Given the description of an element on the screen output the (x, y) to click on. 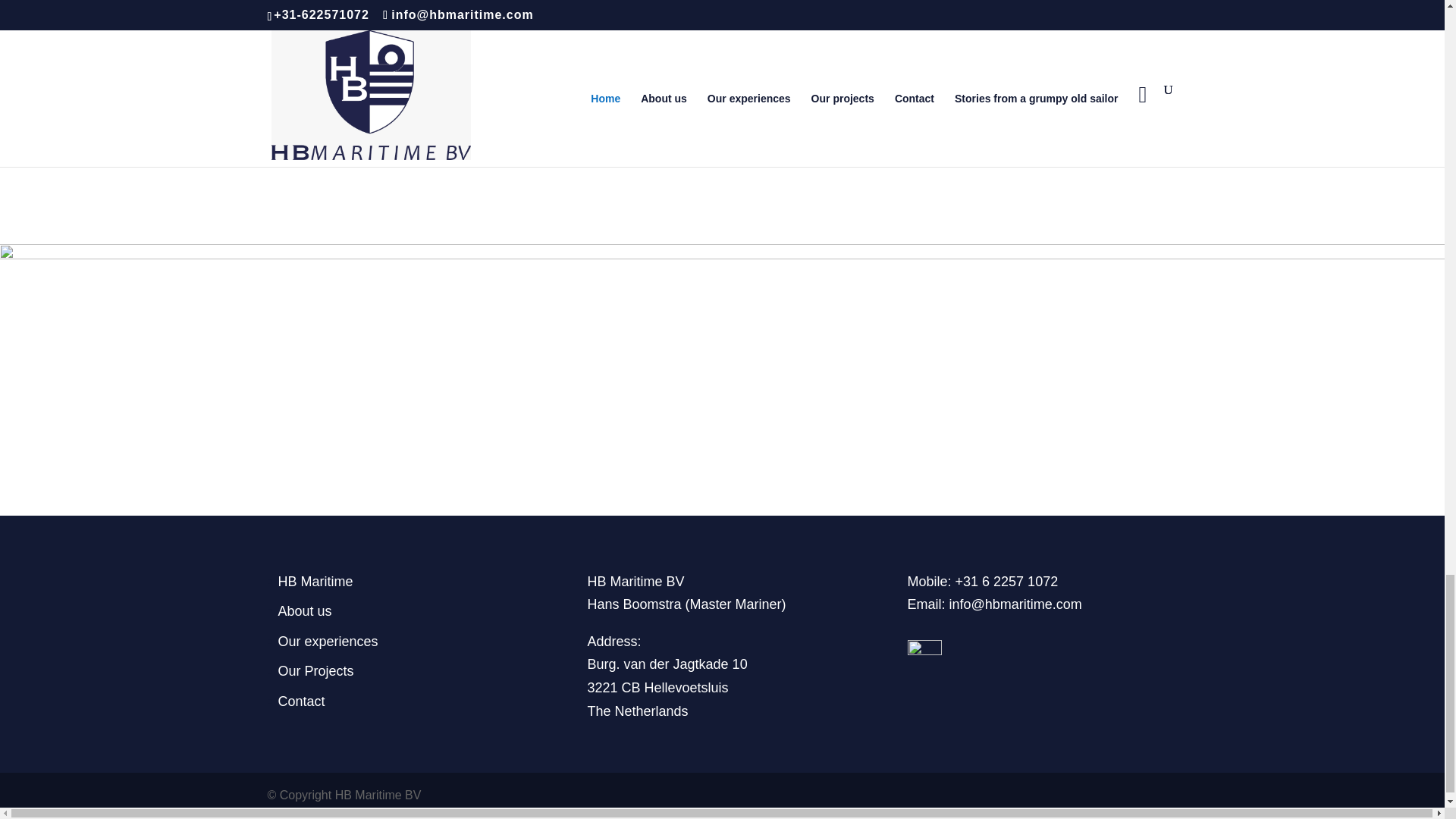
Our experiences (327, 641)
HB Maritime (315, 581)
About us (304, 611)
Contact (301, 701)
Our Projects (315, 670)
